Given the description of an element on the screen output the (x, y) to click on. 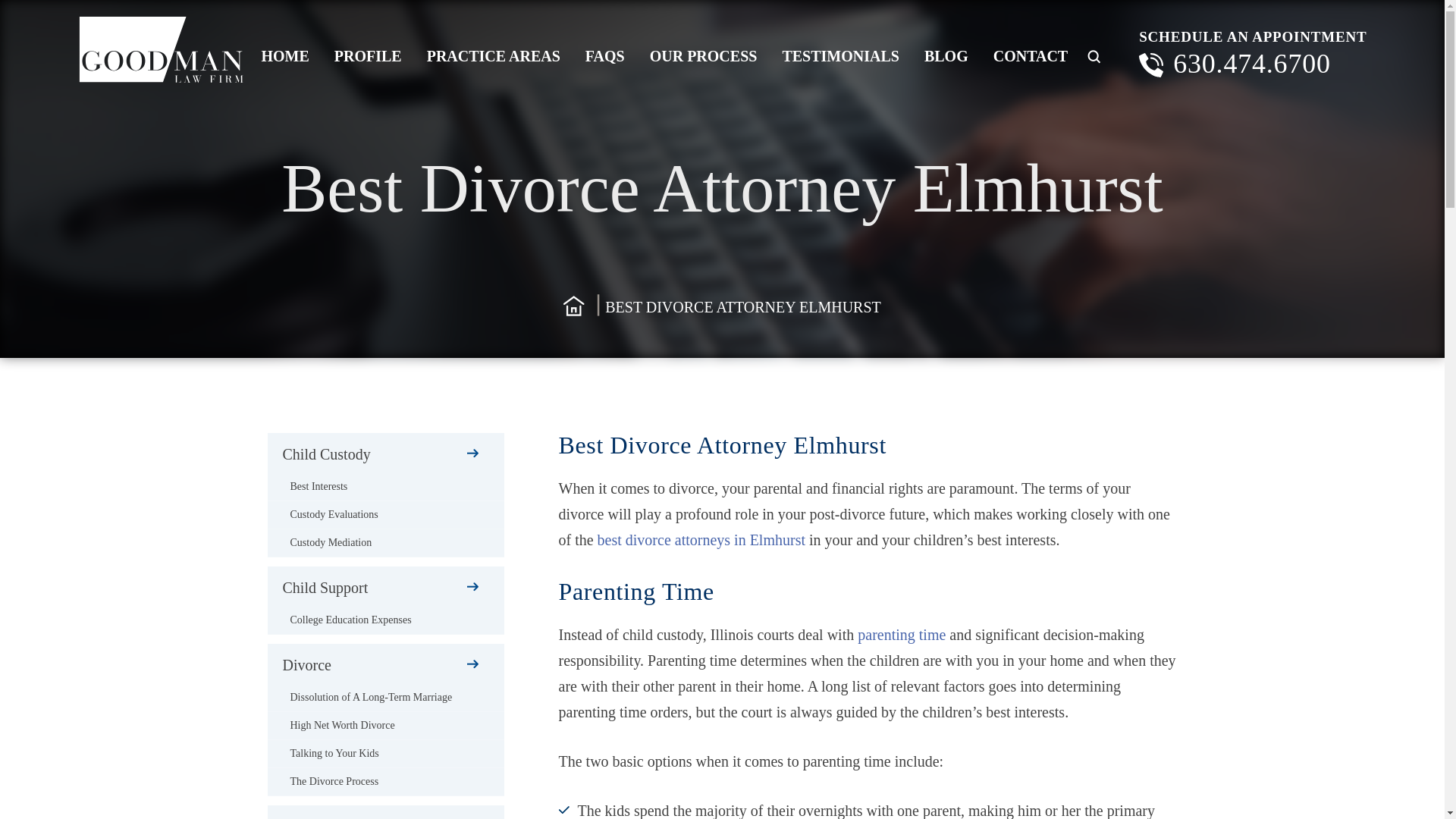
Go to Goodman Law Firm. (574, 306)
HOME (285, 56)
PROFILE (368, 56)
